Given the description of an element on the screen output the (x, y) to click on. 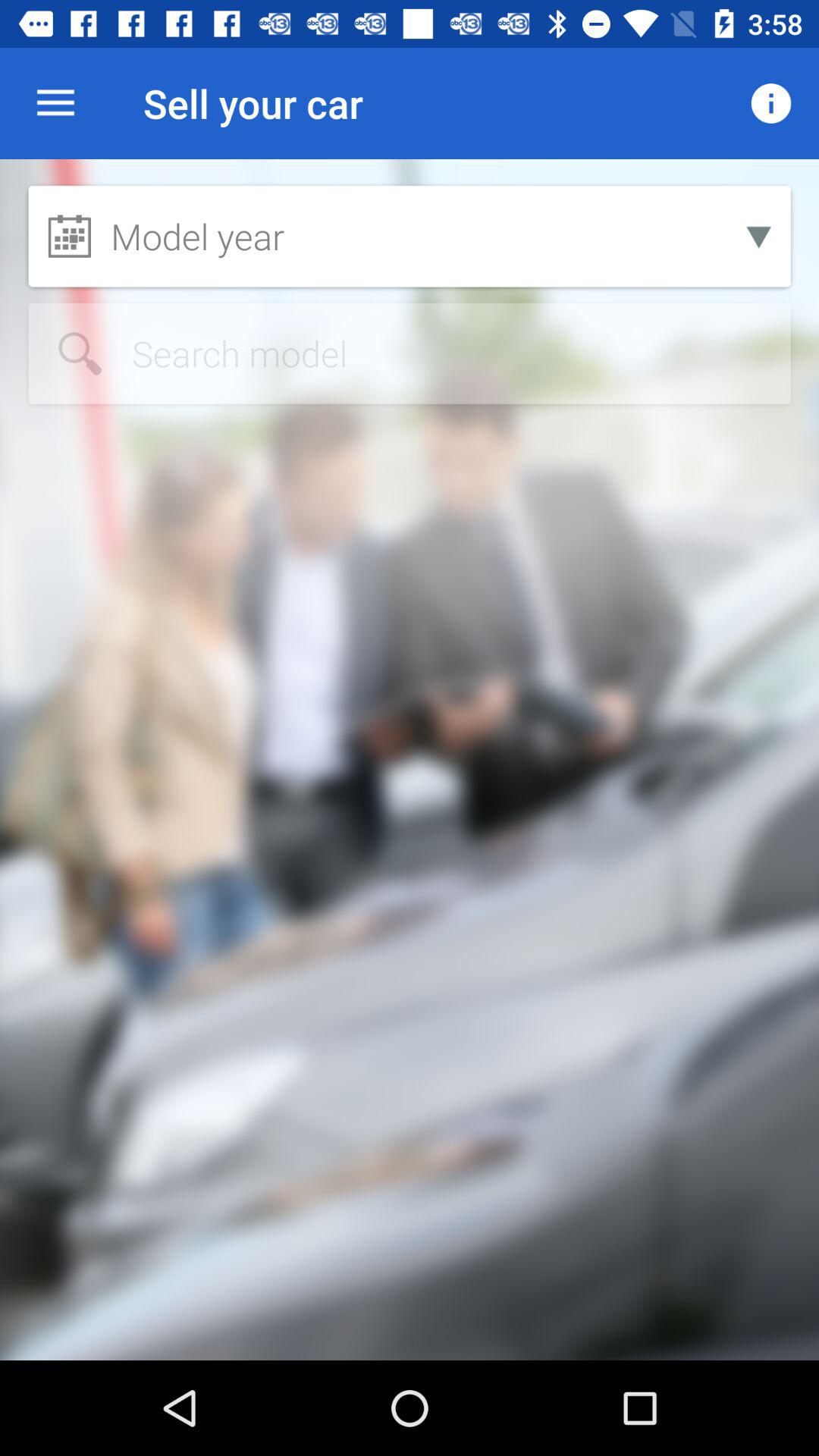
click item to the left of sell your car item (55, 103)
